Given the description of an element on the screen output the (x, y) to click on. 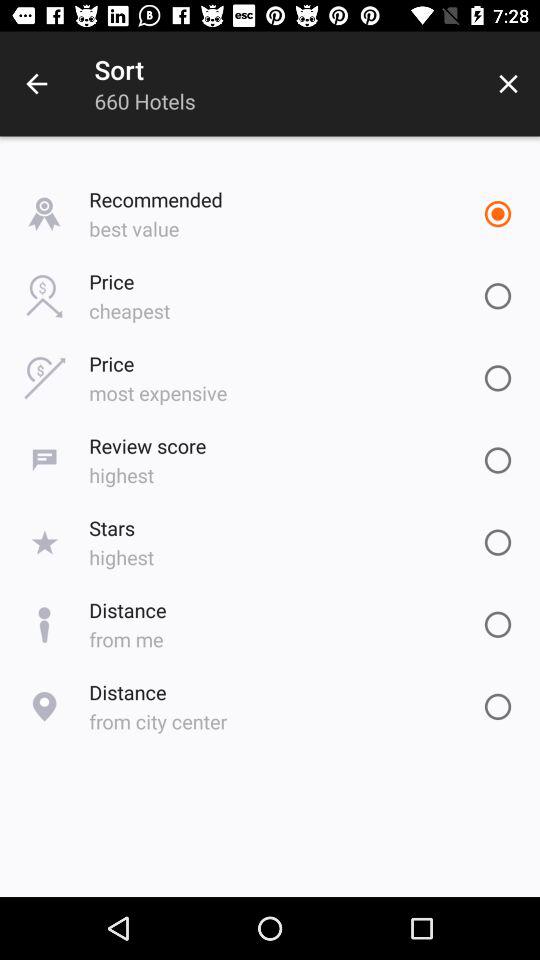
select icon to the right of 660 hotels icon (508, 83)
